Given the description of an element on the screen output the (x, y) to click on. 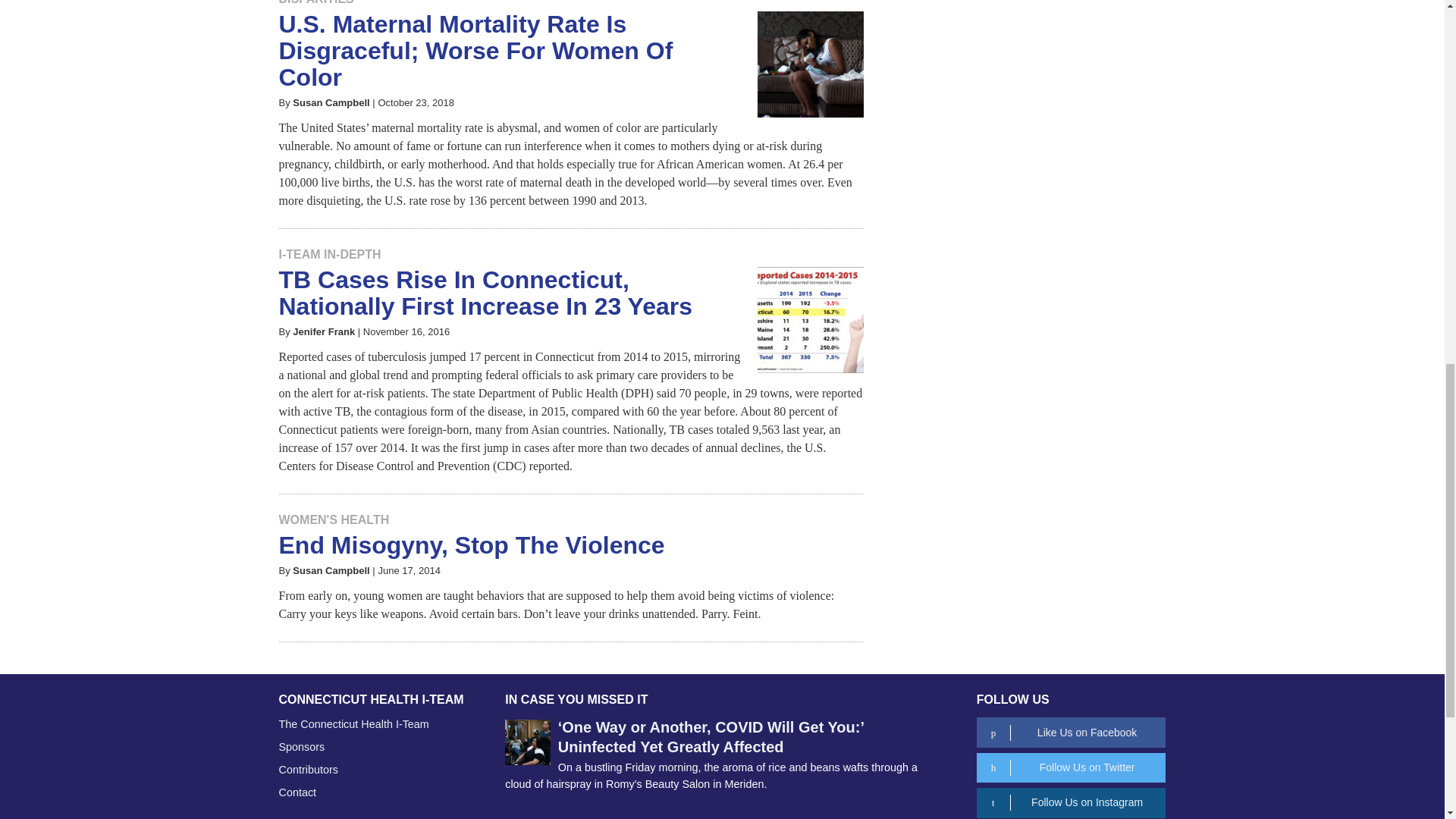
Read Stories in the I-Team In-Depth category (330, 254)
Read Stories in the Women's Health category (334, 519)
More from Susan Campbell (330, 102)
Permalink to End Misogyny, Stop The Violence (472, 544)
Read Stories in the Disparities category (316, 2)
More from Jenifer Frank (323, 331)
